Given the description of an element on the screen output the (x, y) to click on. 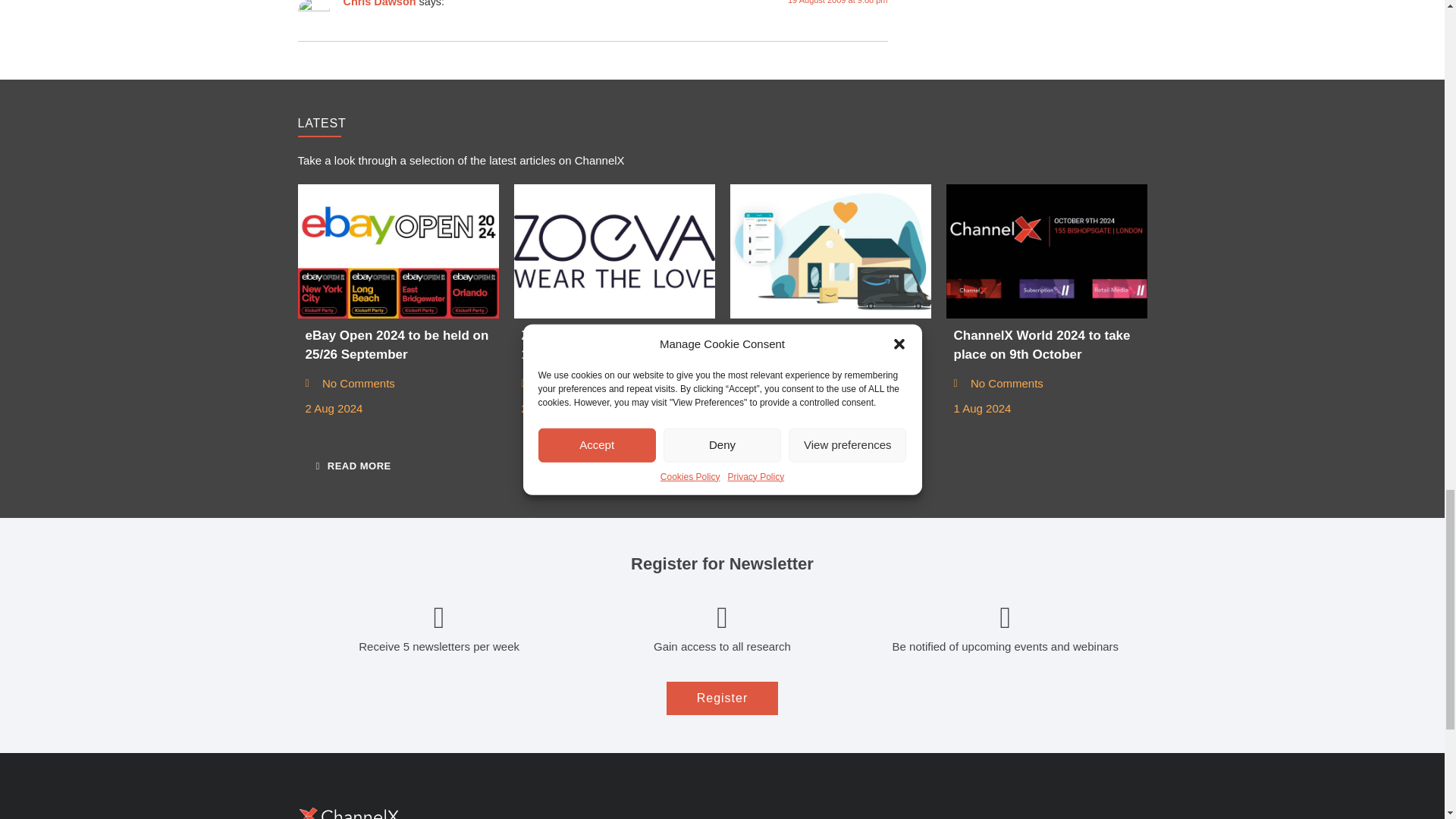
FBA-Heavy-and-Bulky-Spain-launched-with-120kg-allowance (829, 251)
eBay Open 2024 to be held on 25-26 September (397, 251)
ChannelX World 2024 to take place on 9th October (1046, 251)
